Given the description of an element on the screen output the (x, y) to click on. 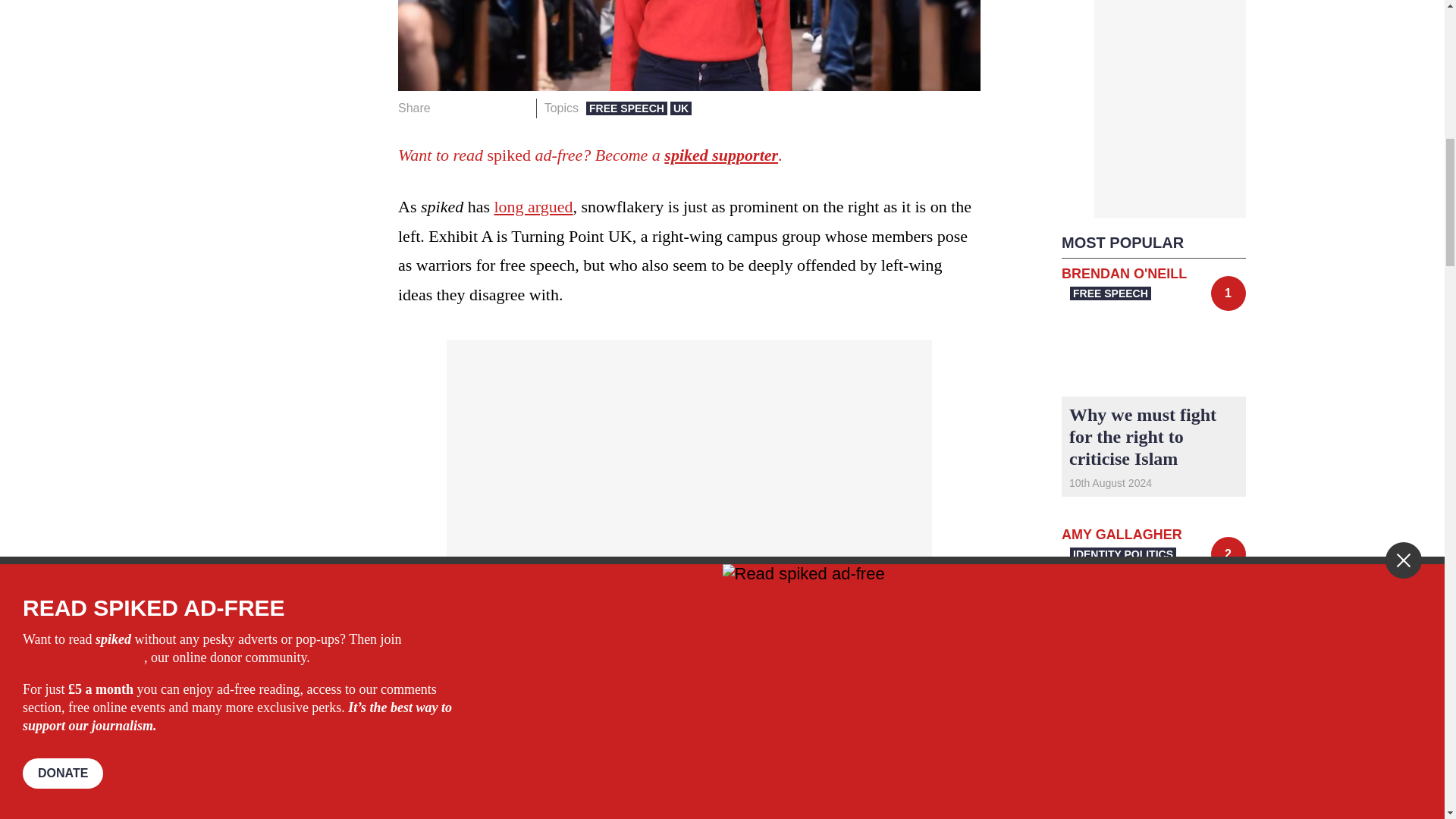
Share on Facebook (448, 107)
Share on Whatsapp (494, 107)
Share on Twitter (471, 107)
Share on Email (518, 107)
